Given the description of an element on the screen output the (x, y) to click on. 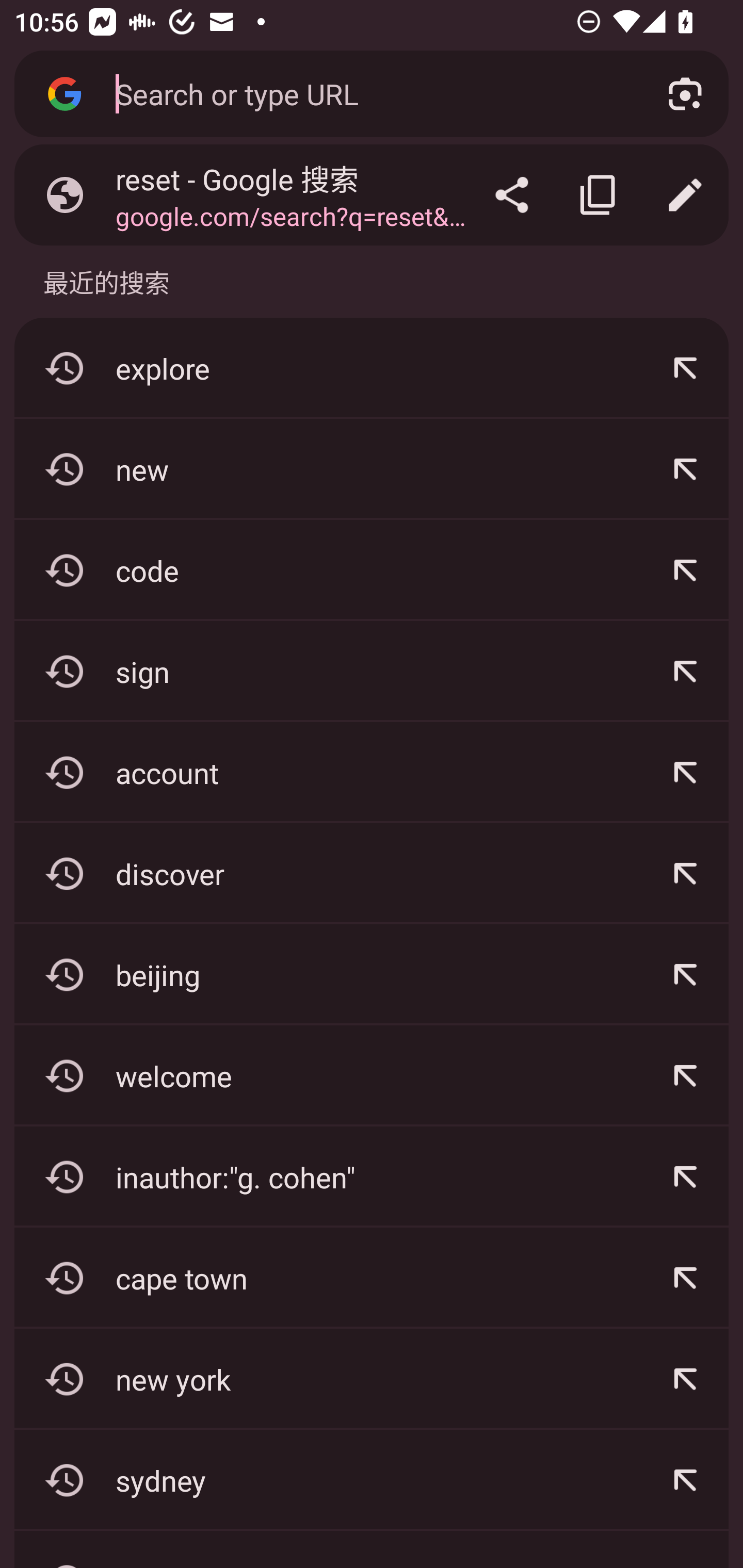
Search with your camera using Google Lens (684, 93)
Search or type URL (367, 92)
Share… (511, 195)
Copy link (598, 195)
Edit (684, 195)
explore Refine: explore (371, 368)
Refine: explore (684, 368)
new Refine: new (371, 469)
Refine: new (684, 469)
code Refine: code (371, 570)
Refine: code (684, 570)
sign Refine: sign (371, 671)
Refine: sign (684, 671)
account Refine: account (371, 772)
Refine: account (684, 772)
discover Refine: discover (371, 873)
Refine: discover (684, 873)
beijing Refine: beijing (371, 974)
Refine: beijing (684, 974)
welcome Refine: welcome (371, 1075)
Refine: welcome (684, 1075)
inauthor:"g. cohen" Refine: inauthor:"g. cohen" (371, 1176)
Refine: inauthor:"g. cohen" (684, 1176)
cape town Refine: cape town (371, 1277)
Refine: cape town (684, 1277)
new york Refine: new york (371, 1379)
Refine: new york (684, 1379)
sydney Refine: sydney (371, 1480)
Refine: sydney (684, 1480)
